Given the description of an element on the screen output the (x, y) to click on. 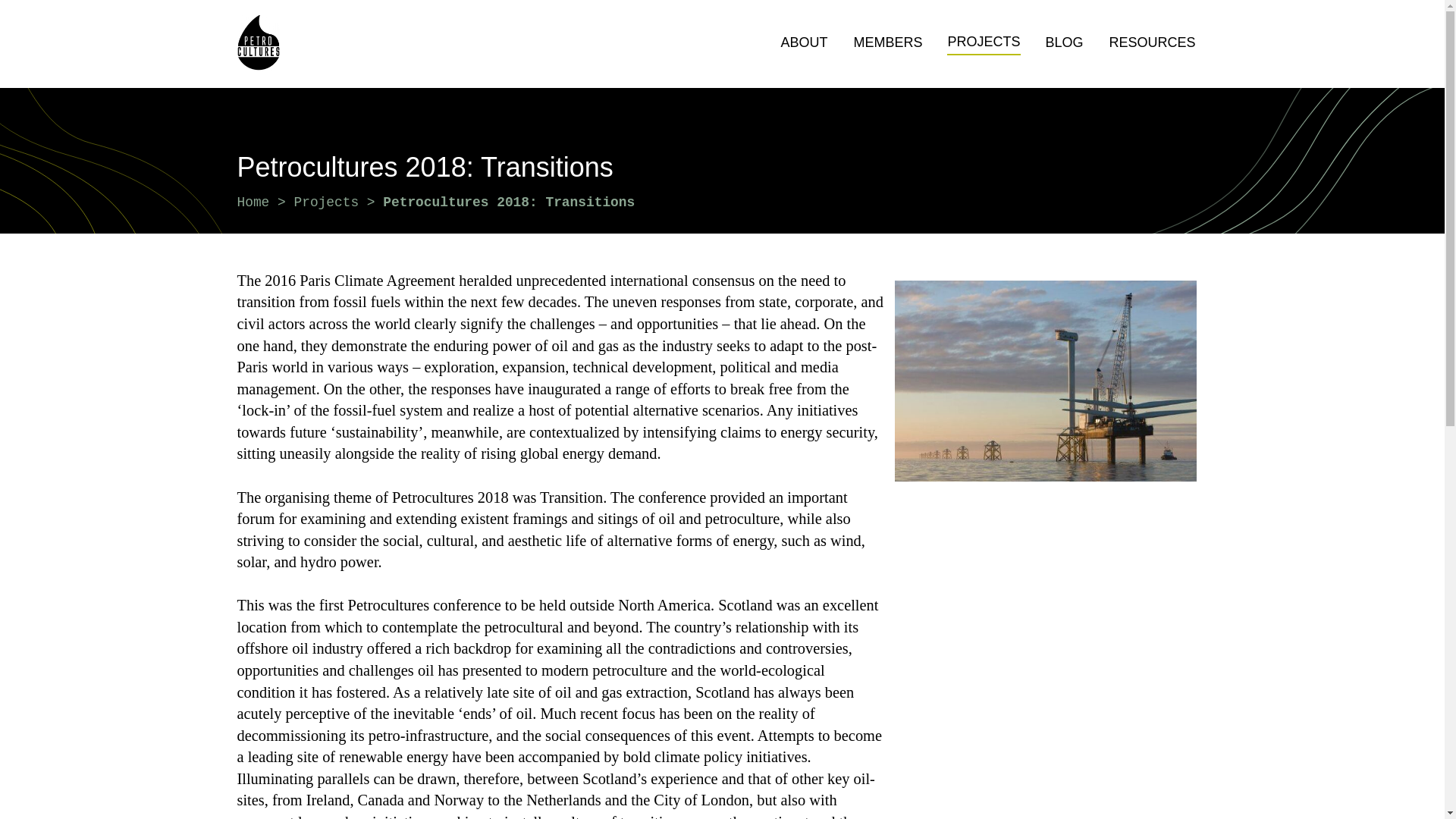
Blog (1064, 43)
Members (888, 43)
Projects (983, 43)
Go to Projects. (326, 201)
ABOUT (804, 43)
About (804, 43)
Projects (326, 201)
Home (252, 201)
BLOG (1064, 43)
Go to Petrocultures Research Group. (252, 201)
